Given the description of an element on the screen output the (x, y) to click on. 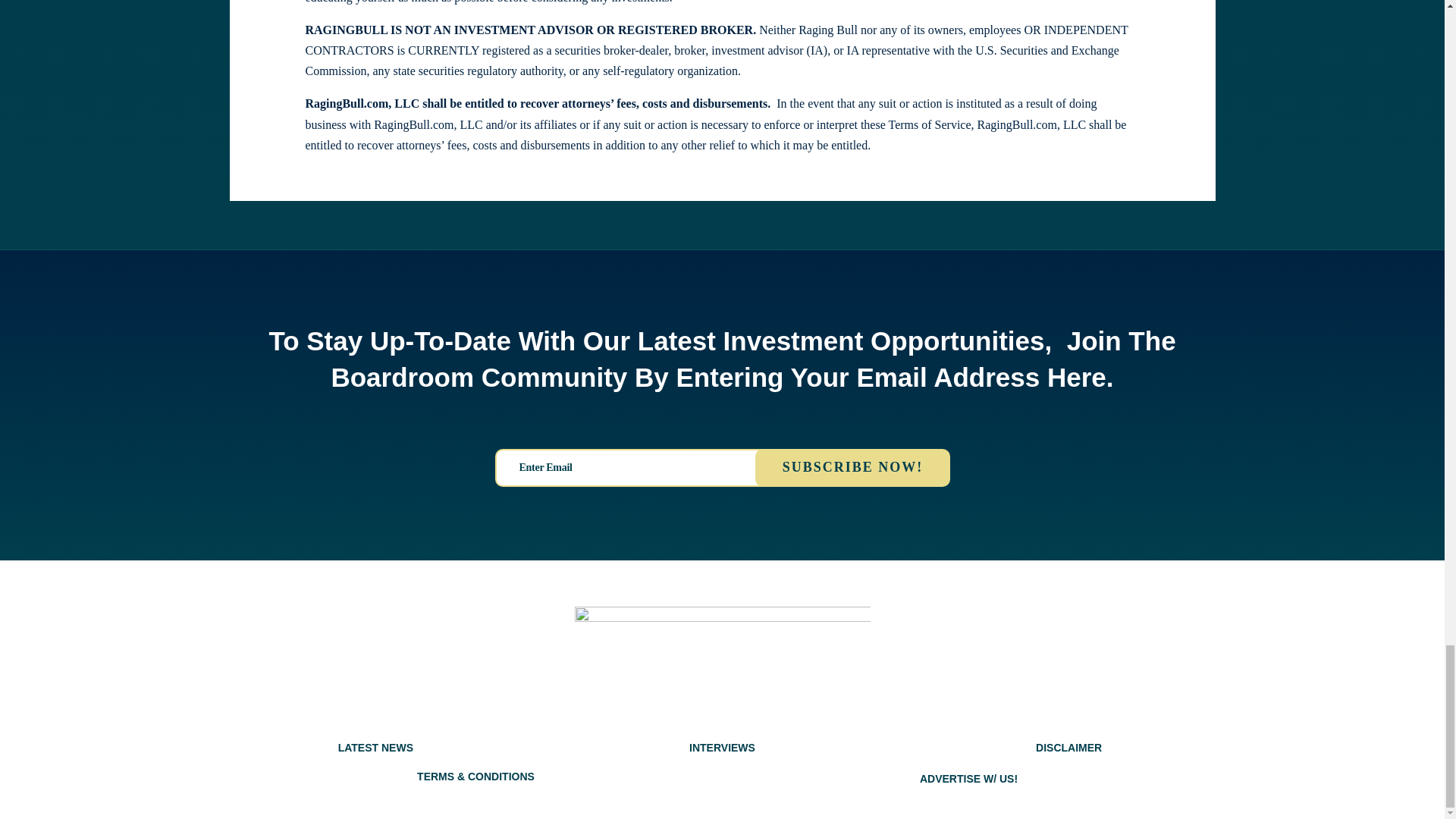
boardroom-logo (722, 649)
SUBSCRIBE NOW! (852, 467)
